Given the description of an element on the screen output the (x, y) to click on. 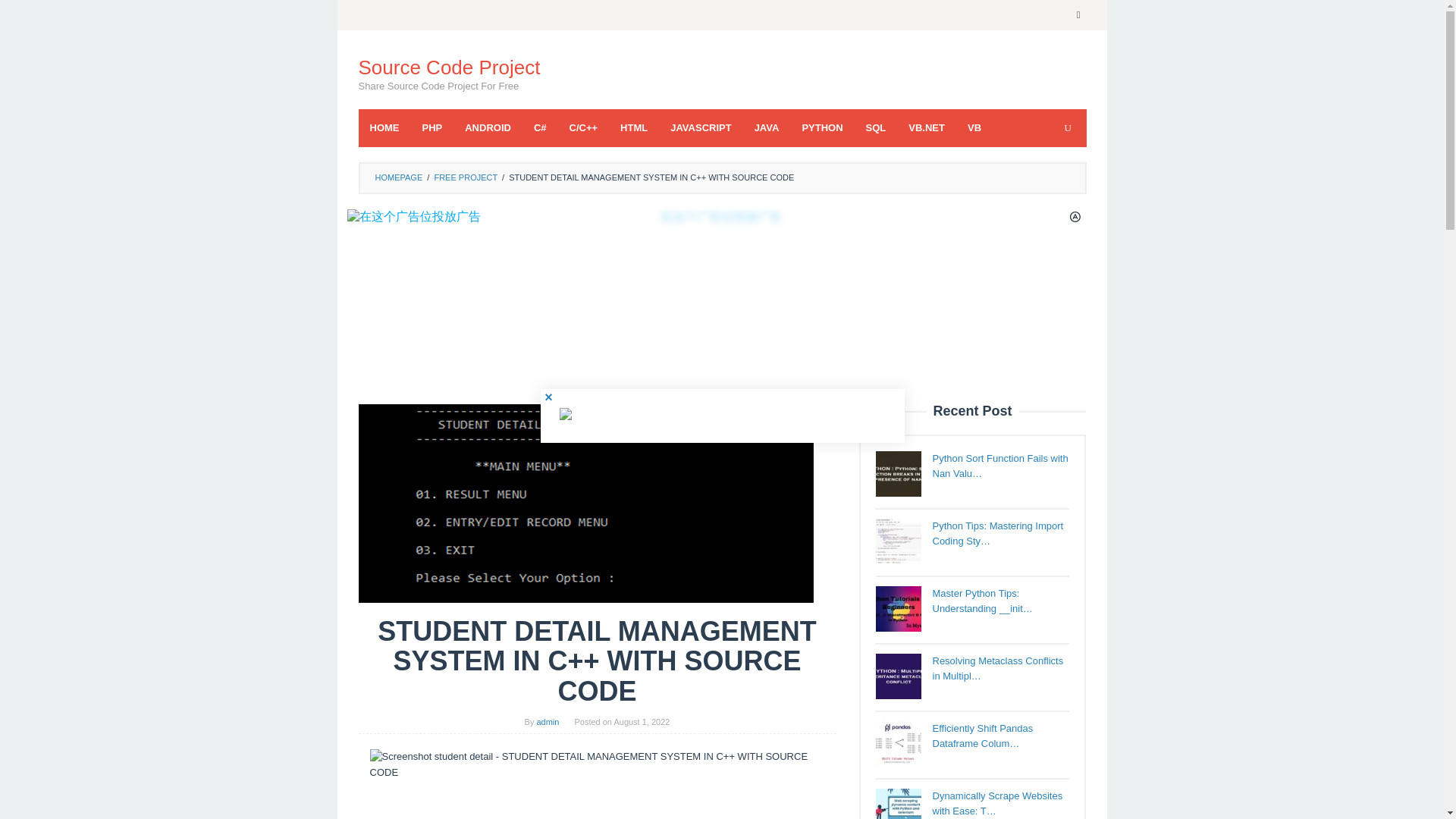
SQL (876, 127)
VB.NET (926, 127)
ANDROID (487, 127)
JAVASCRIPT (700, 127)
admin (547, 721)
HOMEPAGE (398, 176)
PYTHON (821, 127)
Source Code Project (449, 67)
Permalink to: Python Sort Function Fails with Nan Values. (1000, 465)
HTML (633, 127)
Permalink to: admin (547, 721)
PHP (432, 127)
VB (974, 127)
FREE PROJECT (465, 176)
